Given the description of an element on the screen output the (x, y) to click on. 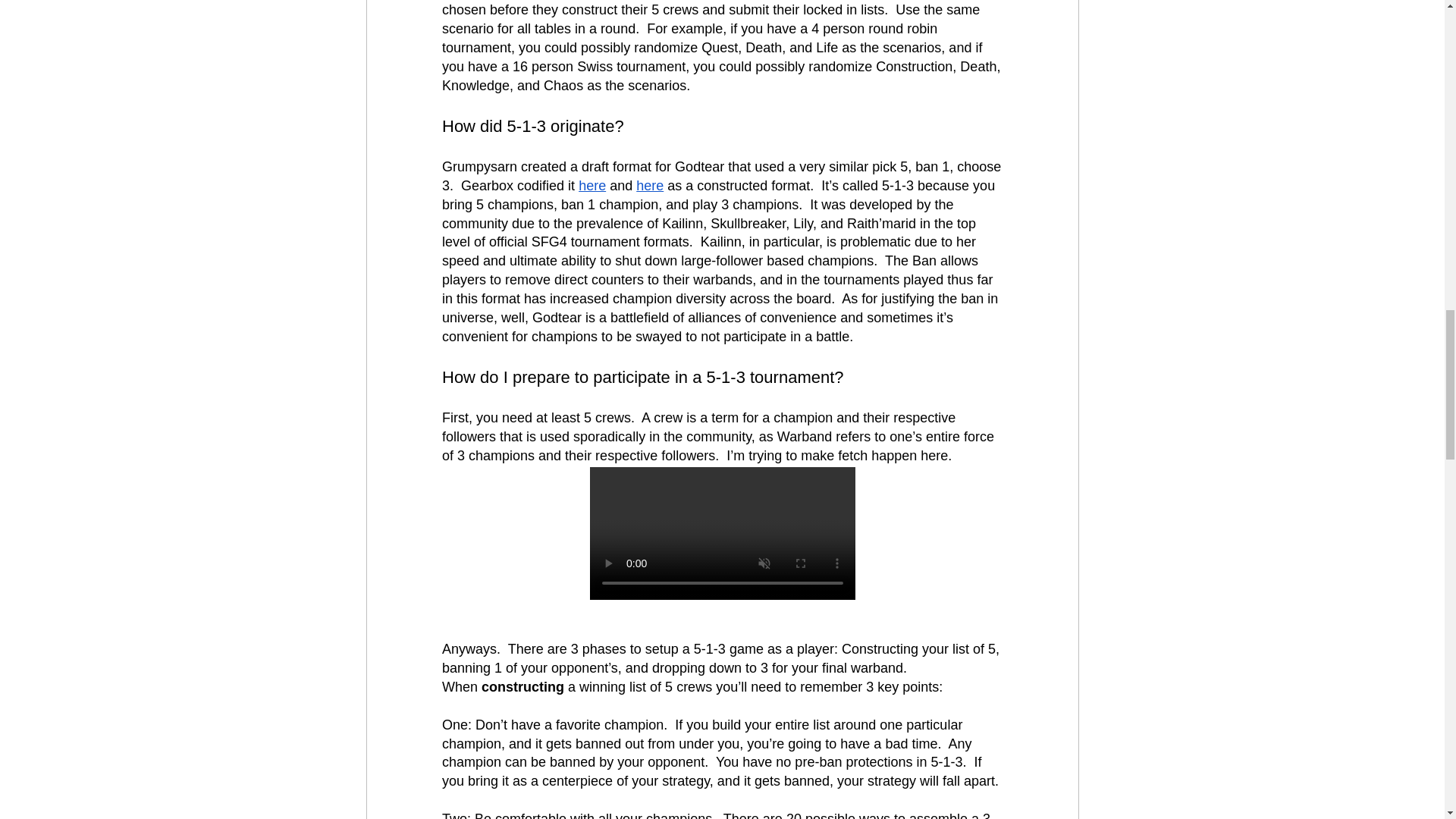
here (591, 185)
here (649, 185)
